Given the description of an element on the screen output the (x, y) to click on. 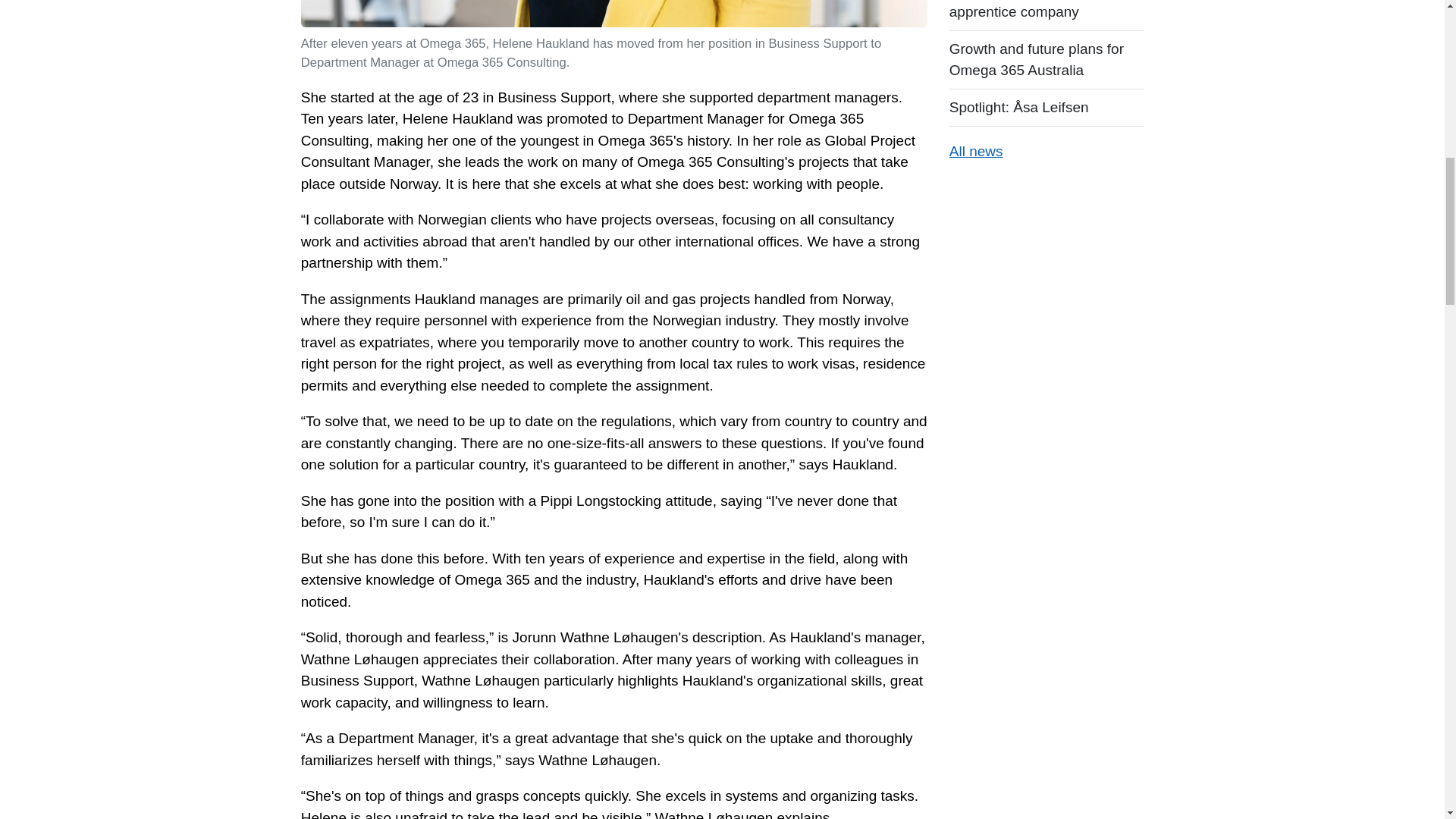
Growth and future plans for Omega 365 Australia (1046, 59)
All news (976, 150)
Omega 365 Core becomes an apprentice company (1046, 15)
